Given the description of an element on the screen output the (x, y) to click on. 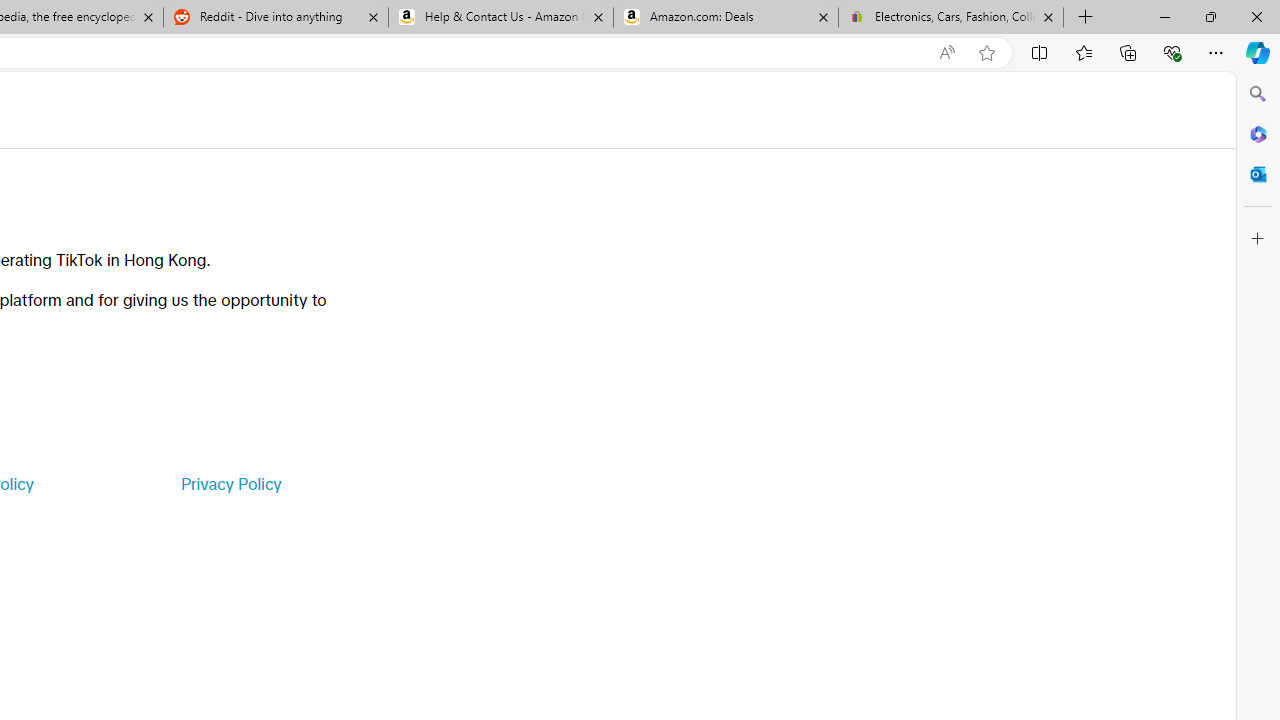
Reddit - Dive into anything (275, 17)
Help & Contact Us - Amazon Customer Service (501, 17)
